Given the description of an element on the screen output the (x, y) to click on. 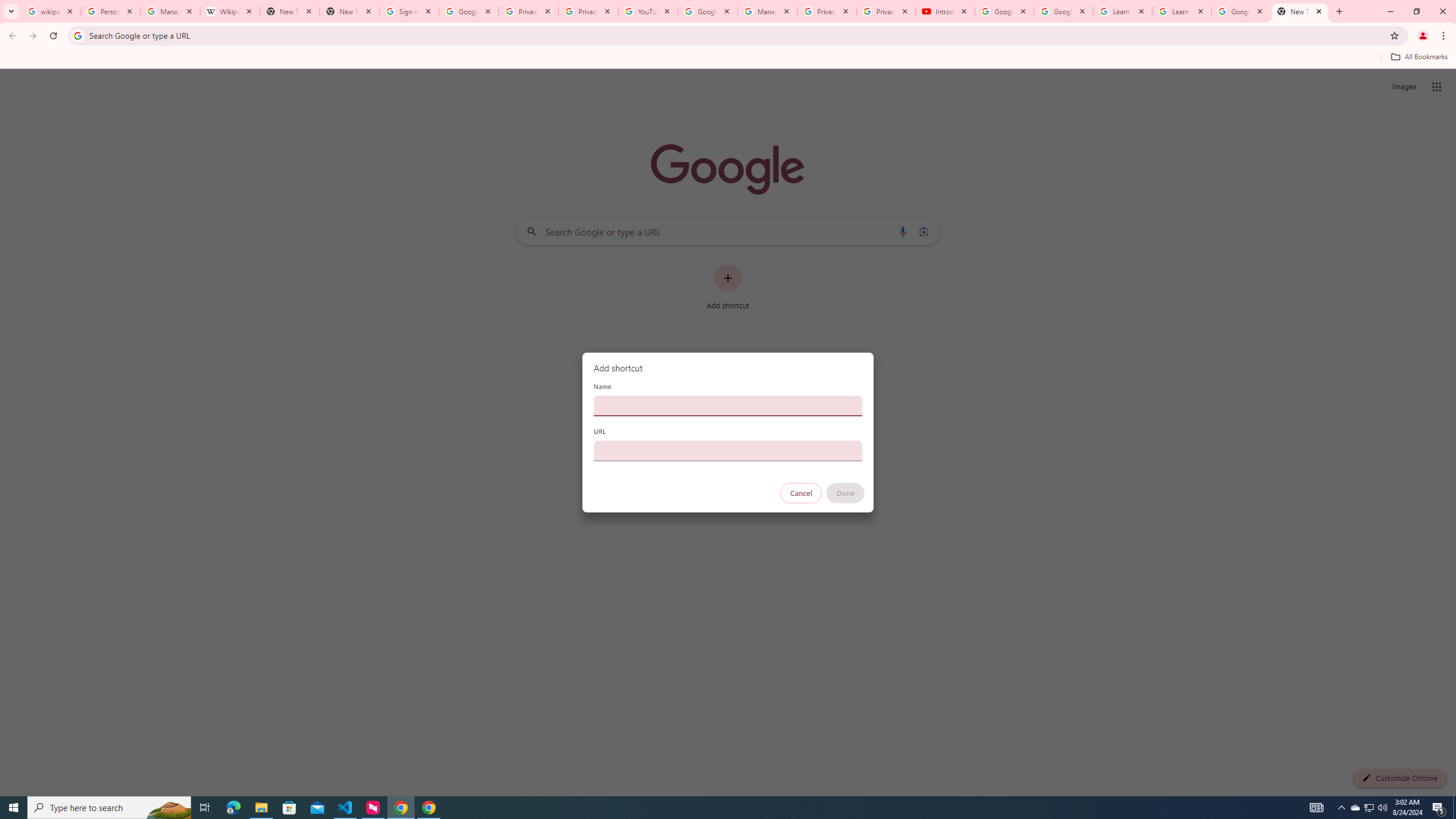
URL (727, 450)
Sign in - Google Accounts (409, 11)
Personalization & Google Search results - Google Search Help (110, 11)
Google Account (1241, 11)
Google Account Help (1004, 11)
Done (845, 493)
